Given the description of an element on the screen output the (x, y) to click on. 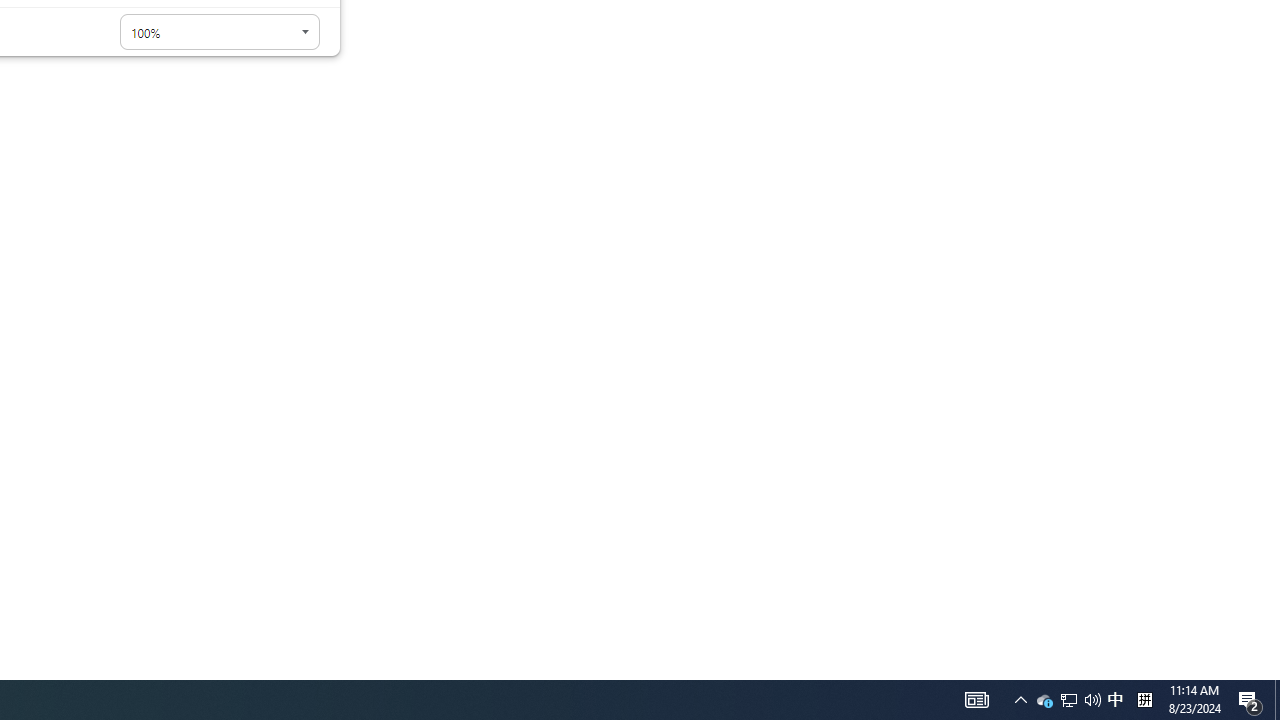
Page zoom (219, 32)
